Given the description of an element on the screen output the (x, y) to click on. 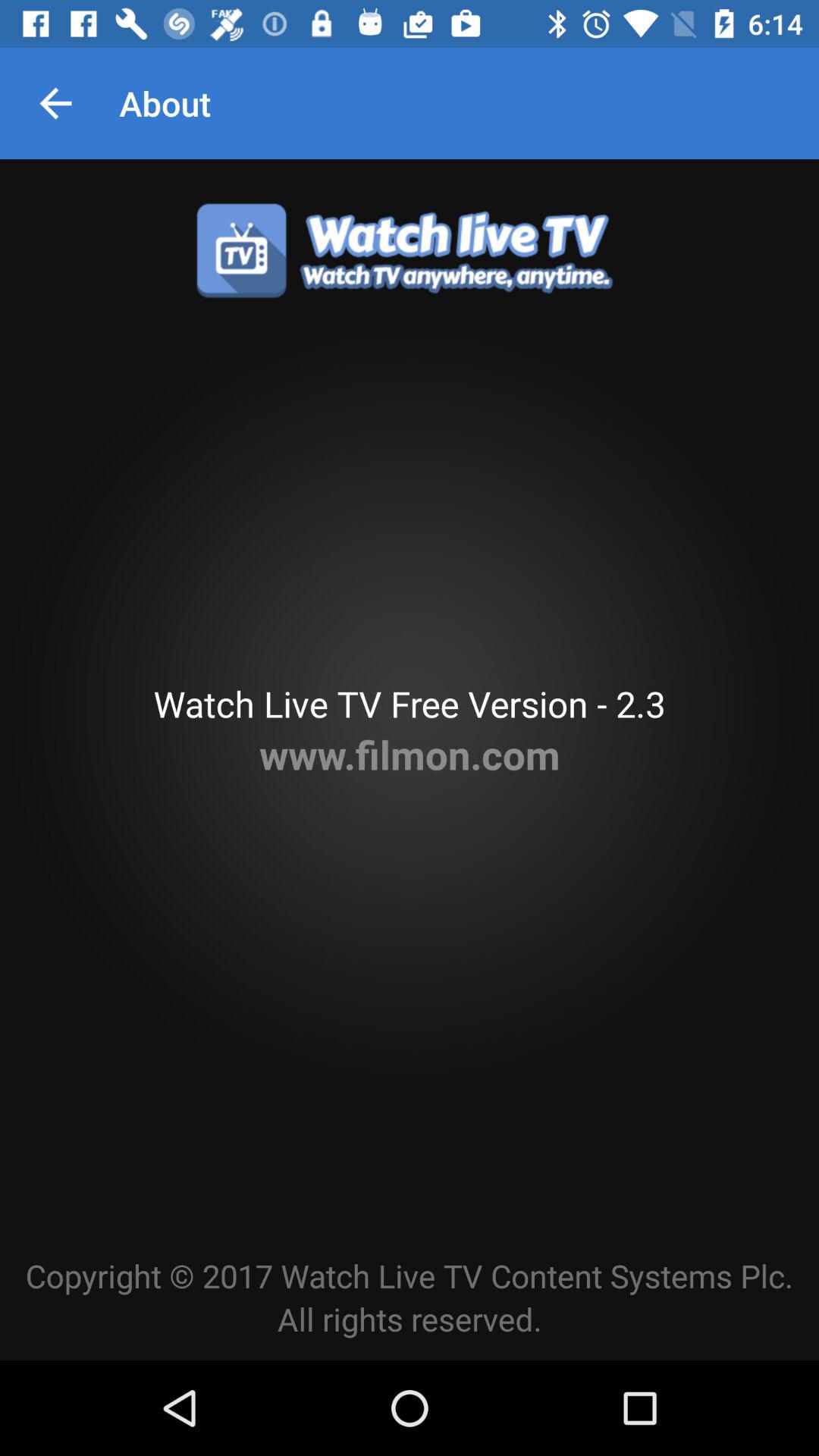
turn off icon to the left of about item (55, 103)
